Given the description of an element on the screen output the (x, y) to click on. 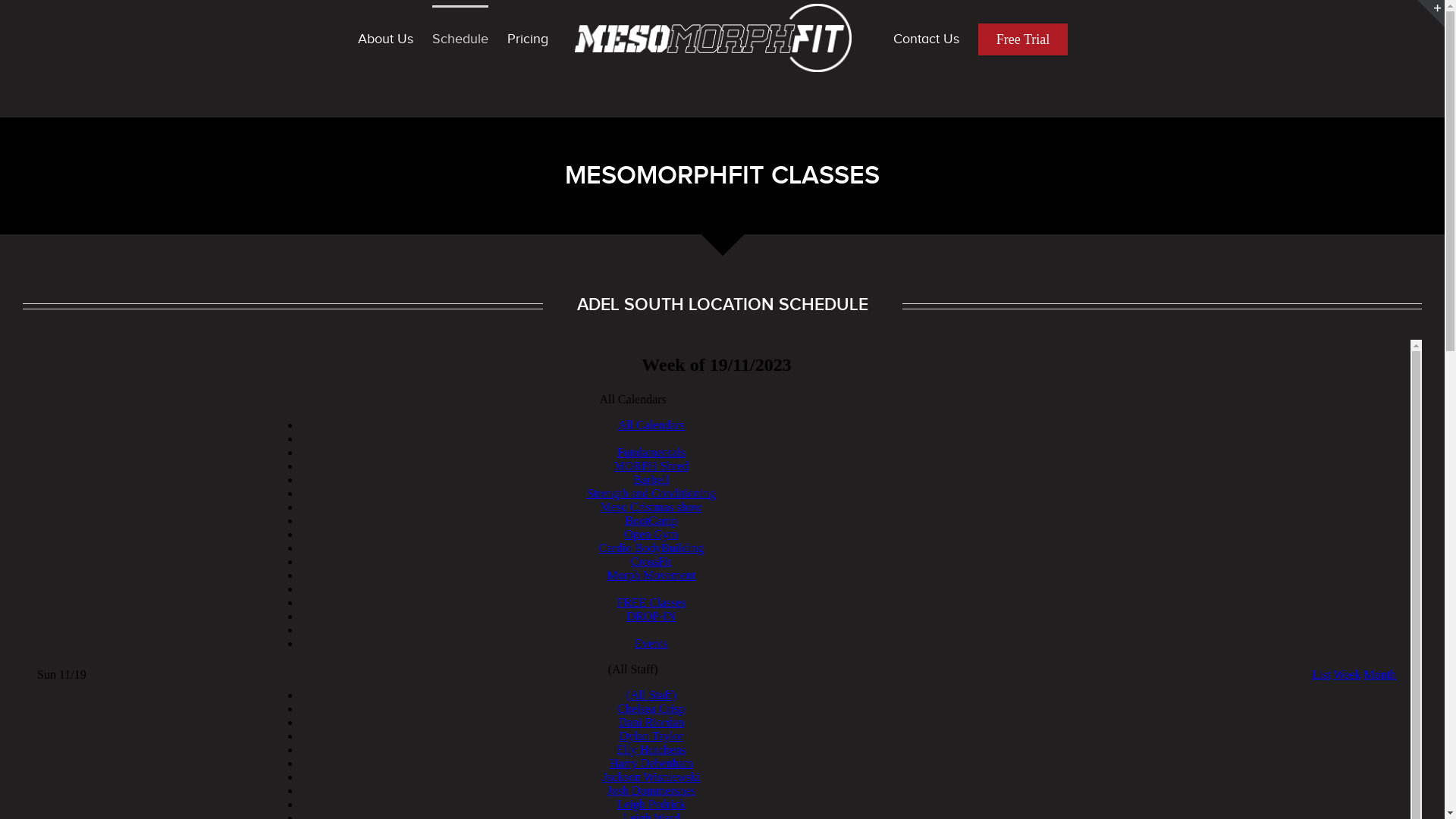
Pricing Element type: text (527, 37)
Schedule Element type: text (460, 37)
Free Trial Element type: text (1023, 37)
About Us Element type: text (385, 37)
Toggle Sliding Bar Area Element type: text (1430, 13)
Contact Us Element type: text (926, 37)
